Given the description of an element on the screen output the (x, y) to click on. 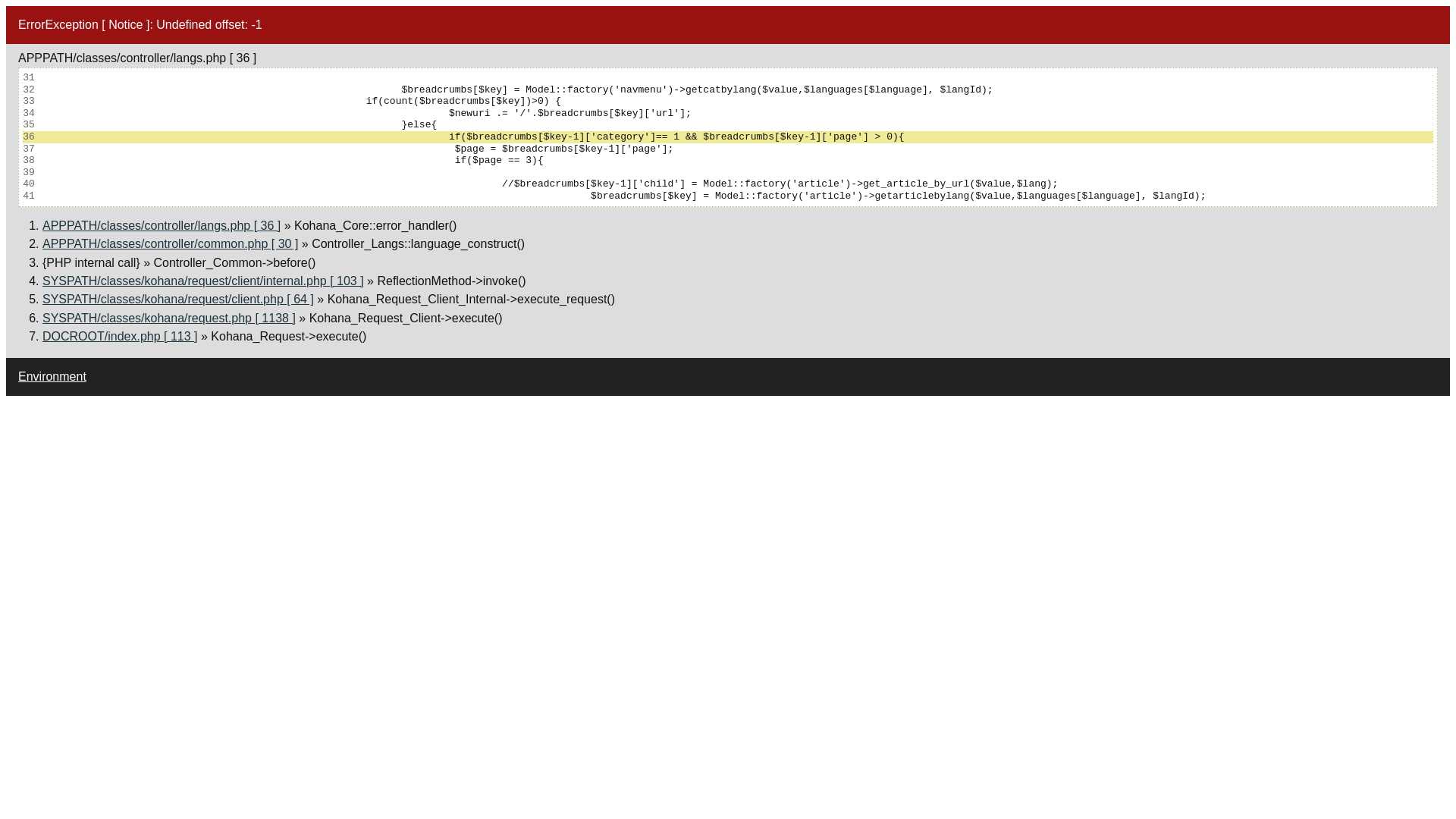
DOCROOT/index.php [ 113 ] Element type: text (119, 335)
SYSPATH/classes/kohana/request.php [ 1138 ] Element type: text (168, 317)
SYSPATH/classes/kohana/request/client.php [ 64 ] Element type: text (177, 298)
SYSPATH/classes/kohana/request/client/internal.php [ 103 ] Element type: text (203, 280)
APPPATH/classes/controller/common.php [ 30 ] Element type: text (170, 243)
Environment Element type: text (52, 376)
APPPATH/classes/controller/langs.php [ 36 ] Element type: text (161, 225)
